Given the description of an element on the screen output the (x, y) to click on. 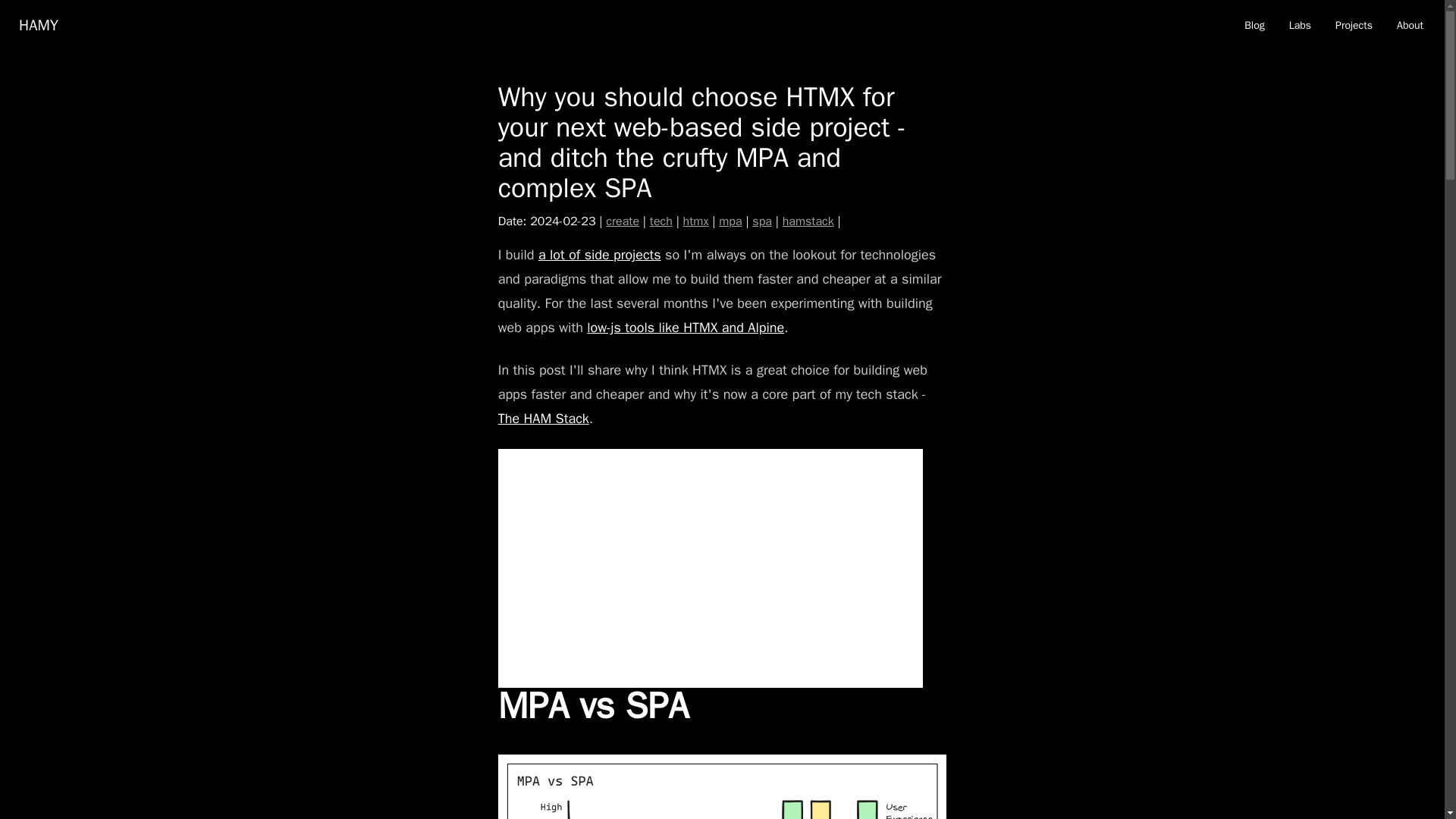
mpa (730, 221)
hamstack (808, 221)
Blog (1253, 25)
Projects (1353, 25)
About (1409, 25)
HAMY (38, 25)
tech (660, 221)
YouTube video player (710, 567)
Labs (1299, 25)
The HAM Stack (543, 418)
